Given the description of an element on the screen output the (x, y) to click on. 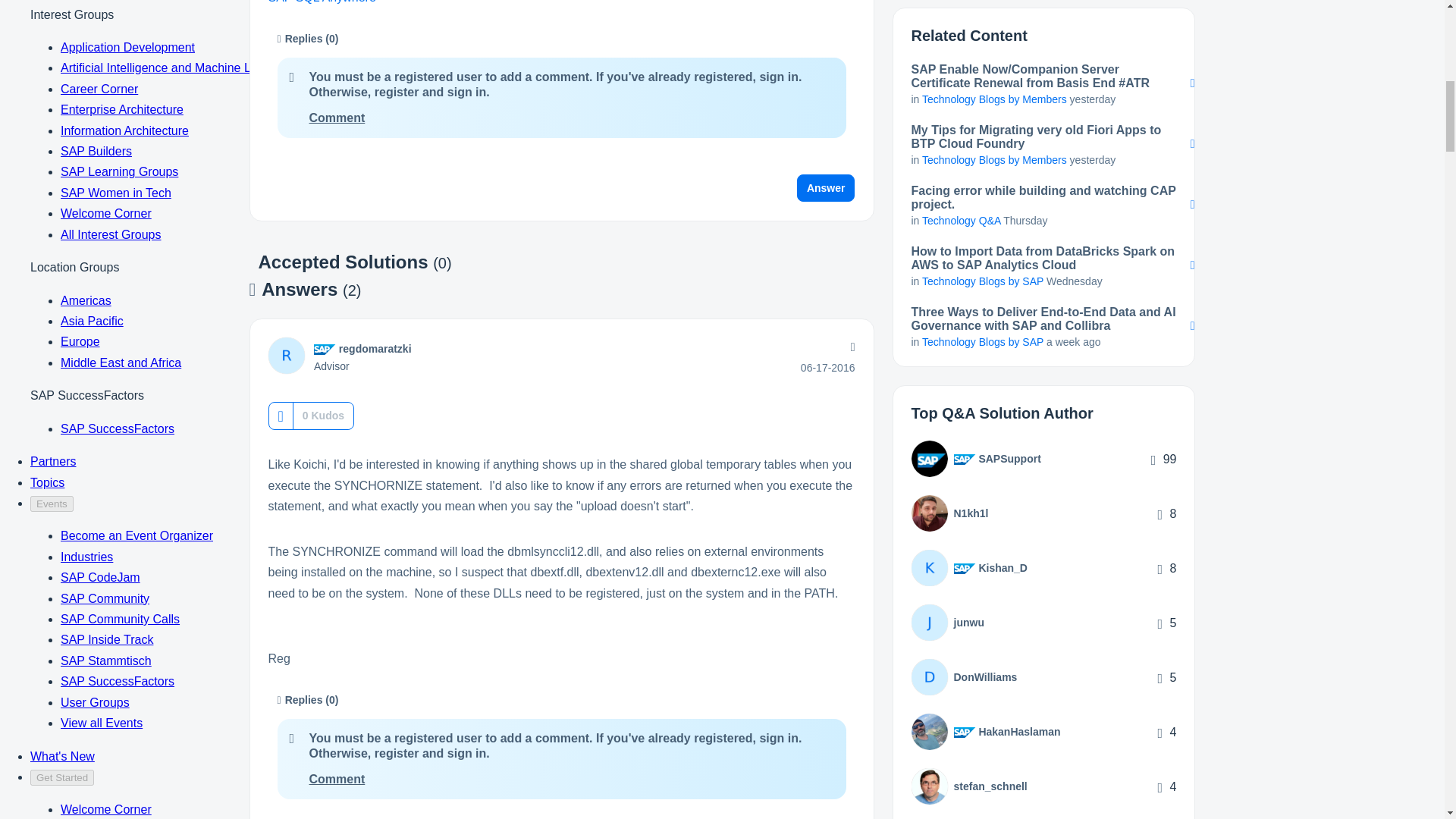
Comment (336, 117)
regdomaratzki (285, 355)
regdomaratzki (375, 348)
Comment (336, 779)
Answer (826, 187)
SAP SQL Anywhere (321, 2)
Advisor (325, 348)
